Given the description of an element on the screen output the (x, y) to click on. 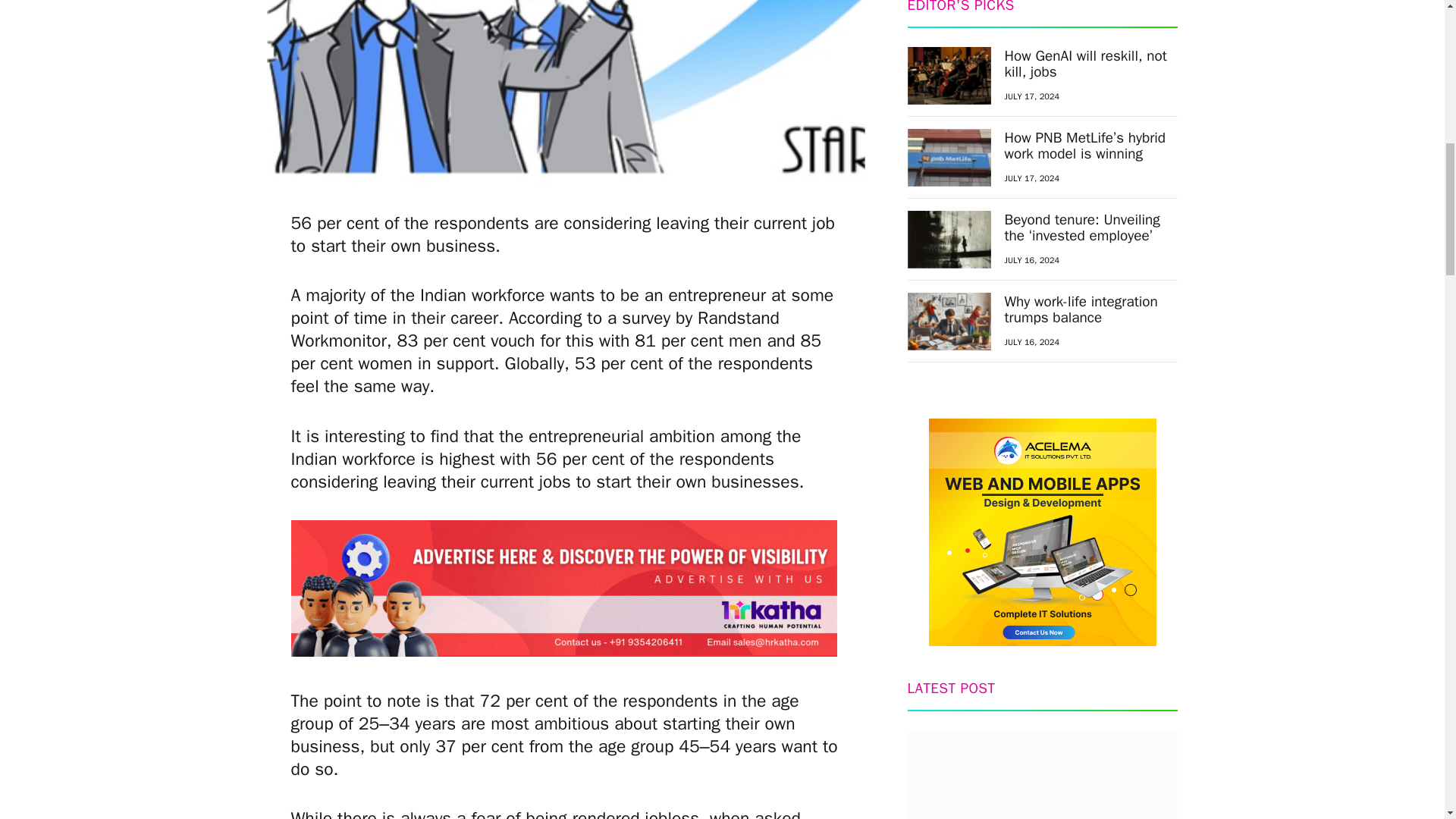
Indian workforce taken over by entrepreneurial ambition (565, 94)
